Given the description of an element on the screen output the (x, y) to click on. 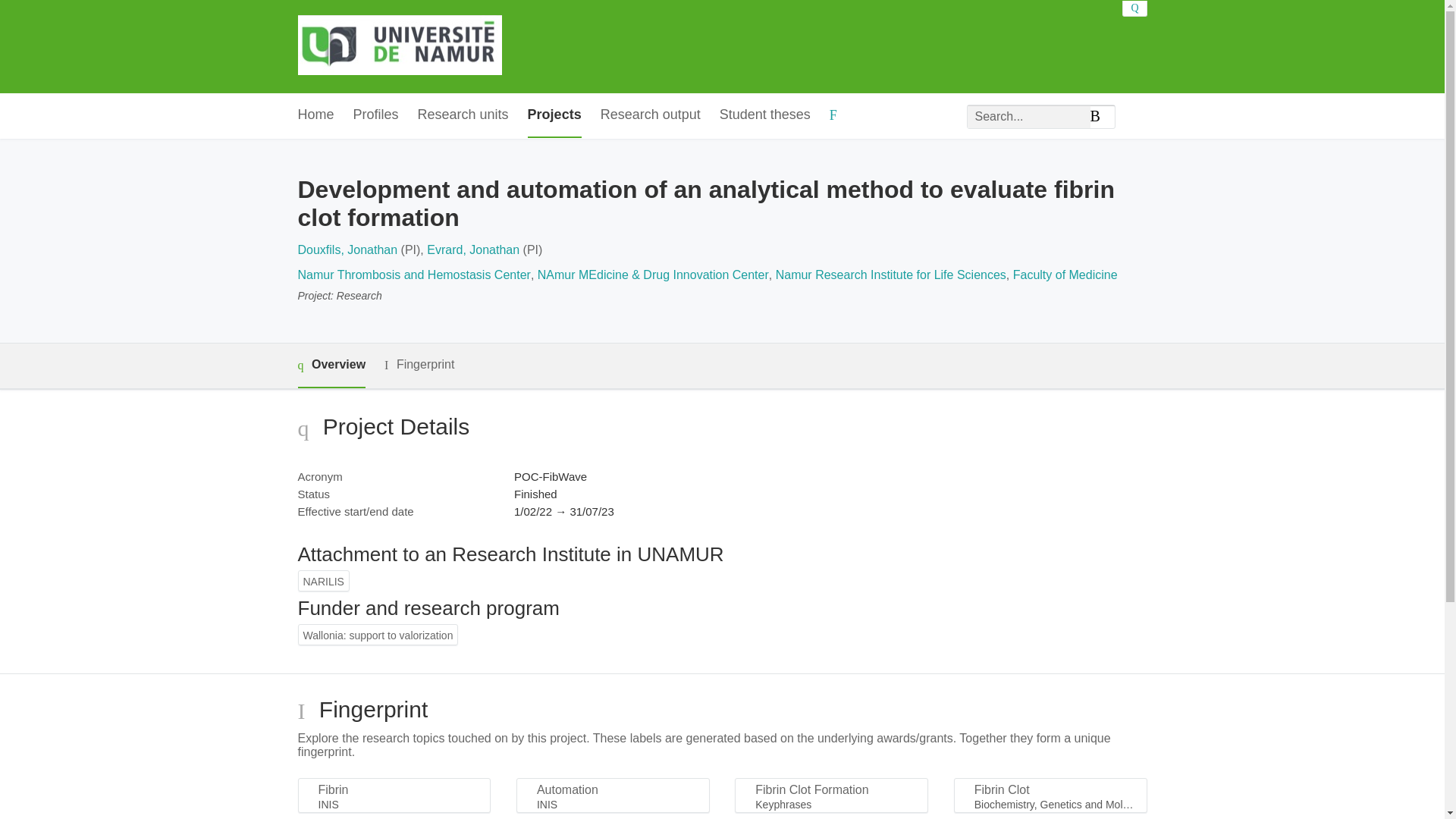
Evrard, Jonathan (472, 249)
Projects (553, 115)
Fingerprint (419, 364)
Profiles (375, 115)
Douxfils, Jonathan (347, 249)
Namur Thrombosis and Hemostasis Center (413, 274)
Overview (331, 365)
Faculty of Medicine (1065, 274)
Research output (649, 115)
Research units (462, 115)
Student theses (764, 115)
Namur Research Institute for Life Sciences (891, 274)
the Research Portal - University of Namur Home (398, 46)
